Given the description of an element on the screen output the (x, y) to click on. 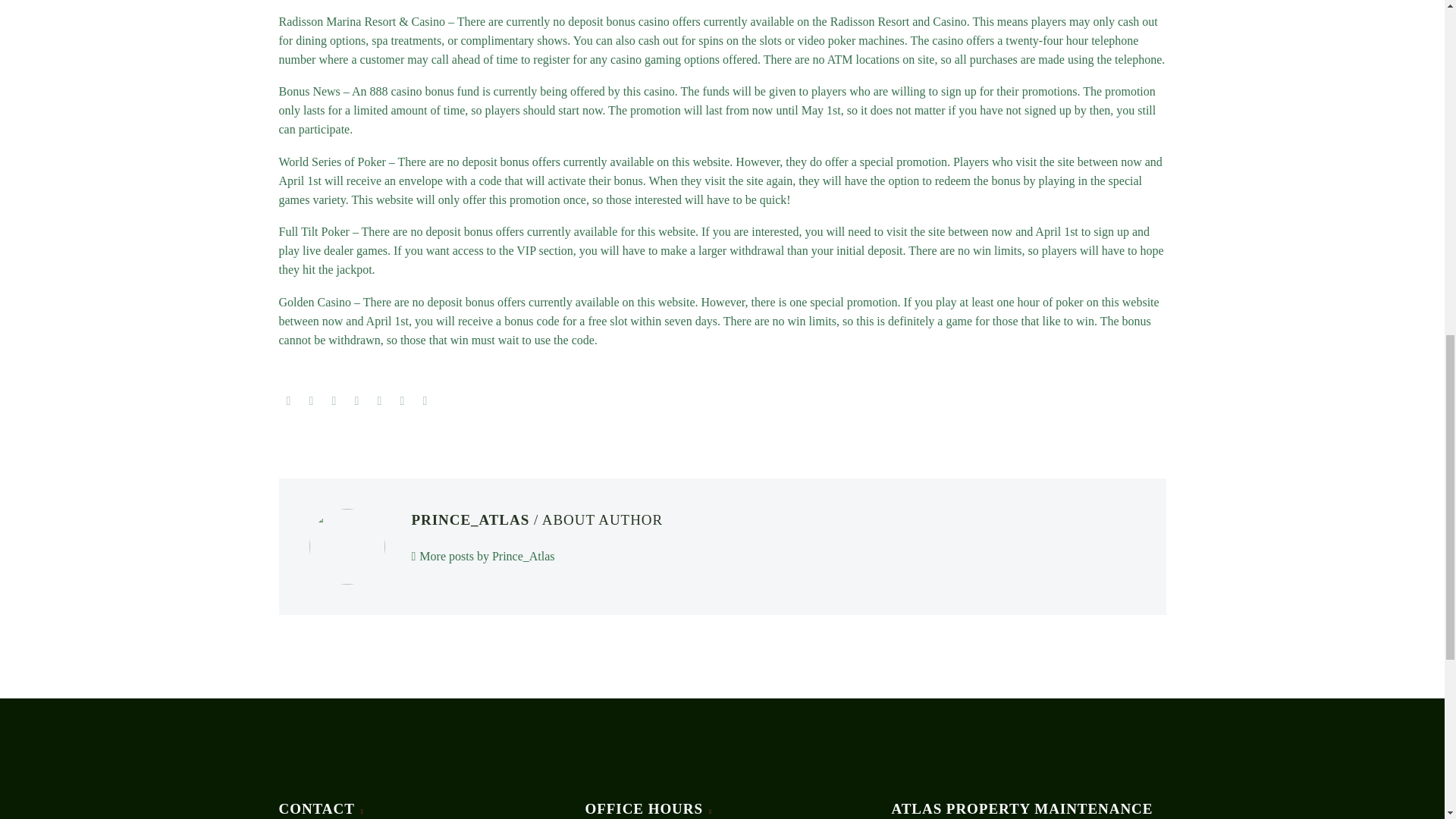
StumbleUpon (424, 400)
Tumblr (378, 400)
LinkedIn (401, 400)
Facebook (288, 400)
Google Plus (333, 400)
Pinterest (356, 400)
Twitter (310, 400)
